Given the description of an element on the screen output the (x, y) to click on. 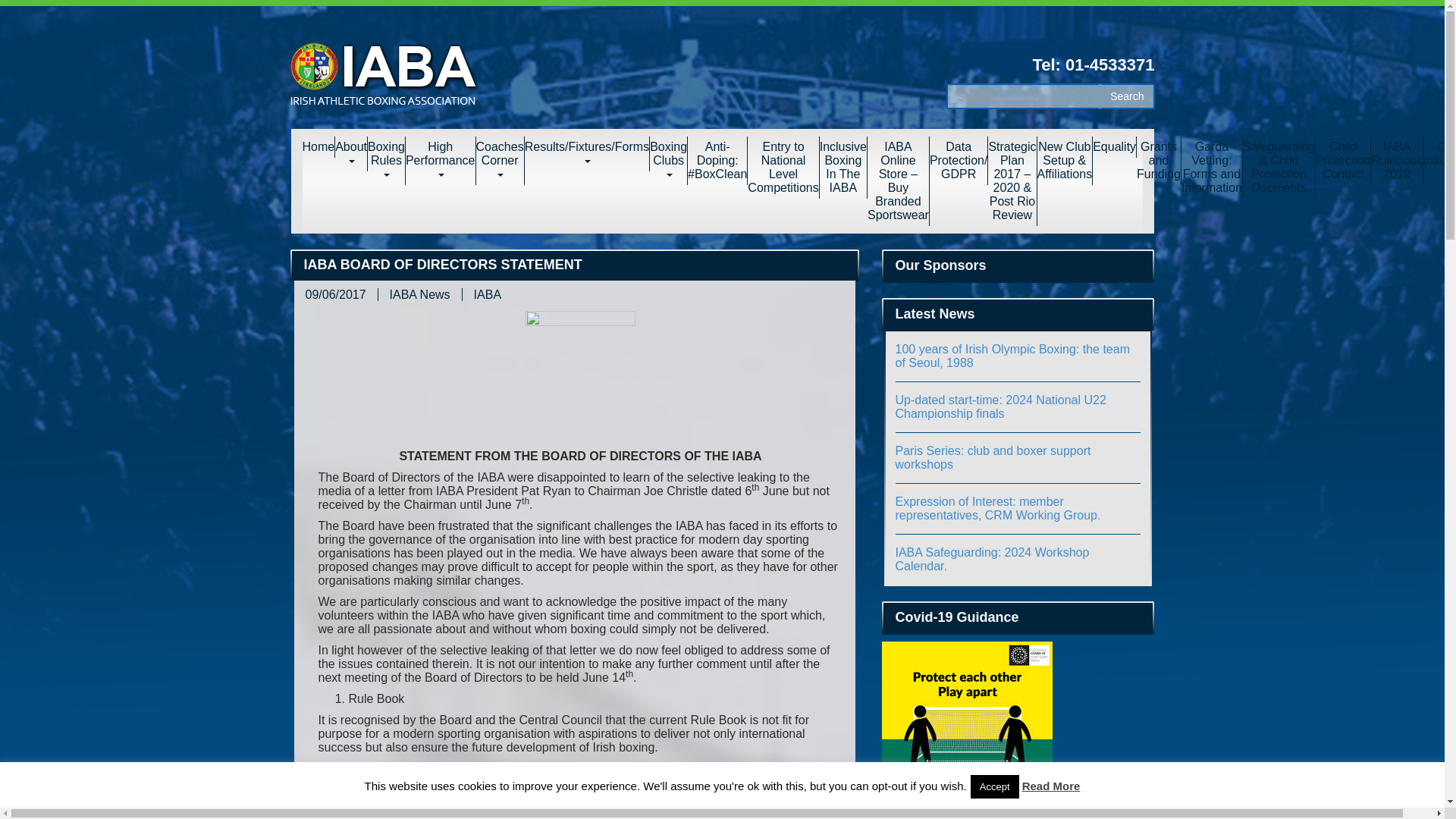
Search (1127, 95)
Search for: (1023, 95)
About (351, 153)
Coaches Corner (500, 160)
Search (1127, 95)
Search (1127, 95)
About (351, 153)
High Performance (441, 160)
Home (317, 147)
Home (317, 147)
